Given the description of an element on the screen output the (x, y) to click on. 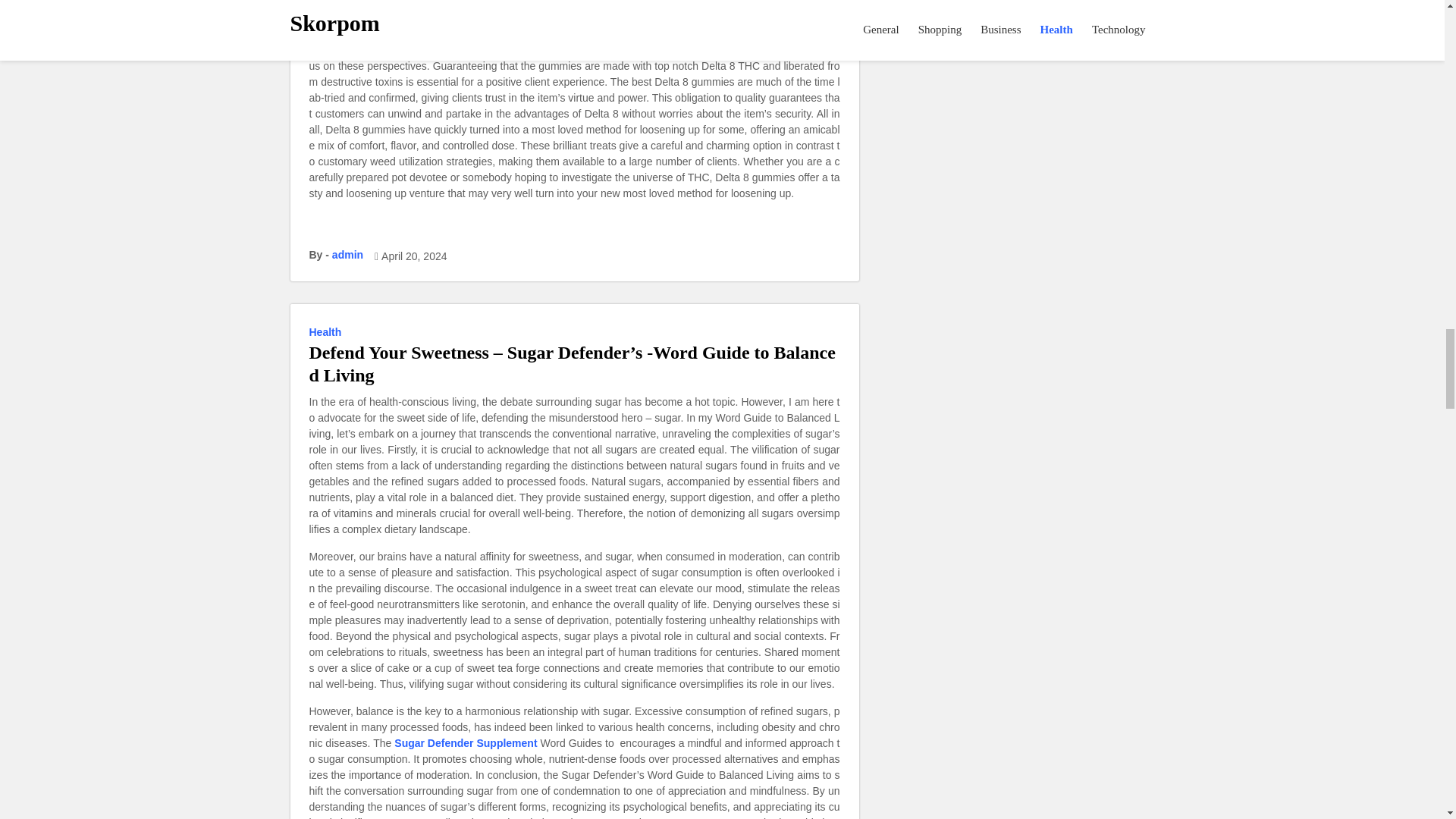
April 20, 2024 (413, 256)
Sugar Defender Supplement (465, 743)
admin (346, 254)
Health (327, 331)
